Given the description of an element on the screen output the (x, y) to click on. 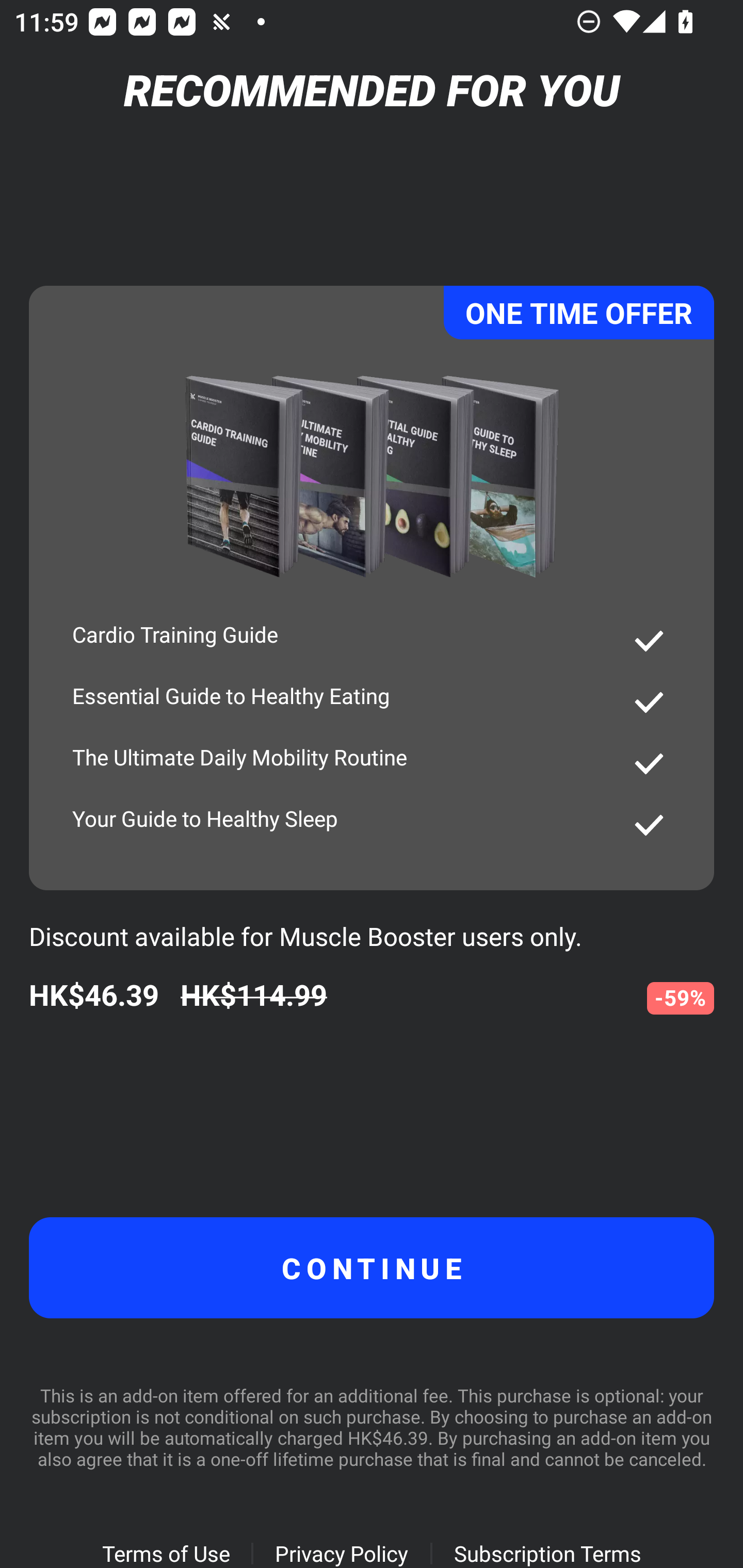
CONTINUE (371, 1267)
Terms of Use (165, 1553)
Privacy Policy (341, 1553)
Subscription Terms (547, 1553)
